Given the description of an element on the screen output the (x, y) to click on. 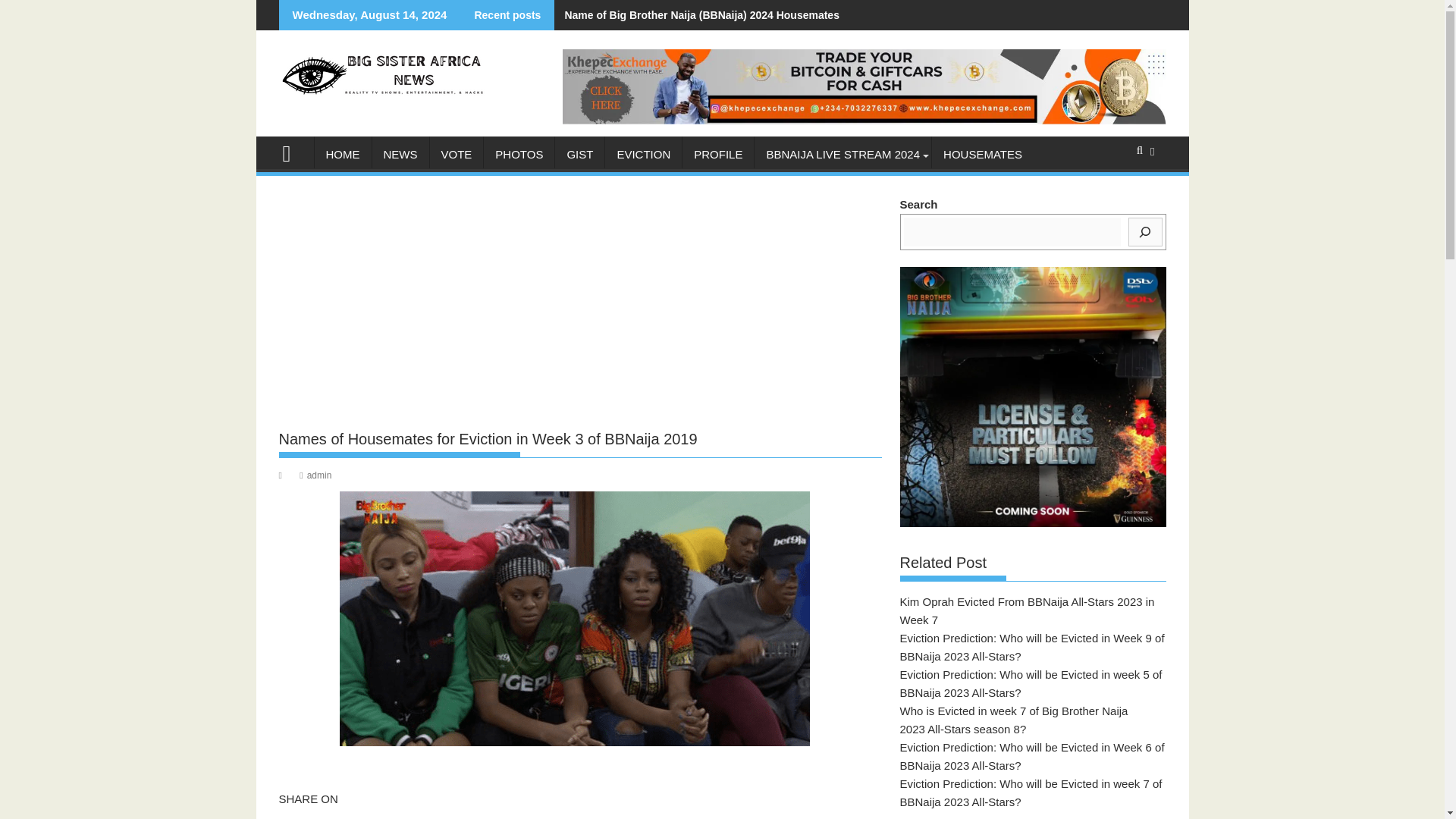
BBNaija 2024 Poll (293, 151)
admin (315, 475)
Advertisement (580, 308)
HOUSEMATES (982, 154)
HOME (342, 154)
PHOTOS (518, 154)
EVICTION (643, 154)
PROFILE (718, 154)
NEWS (399, 154)
GIST (579, 154)
